Given the description of an element on the screen output the (x, y) to click on. 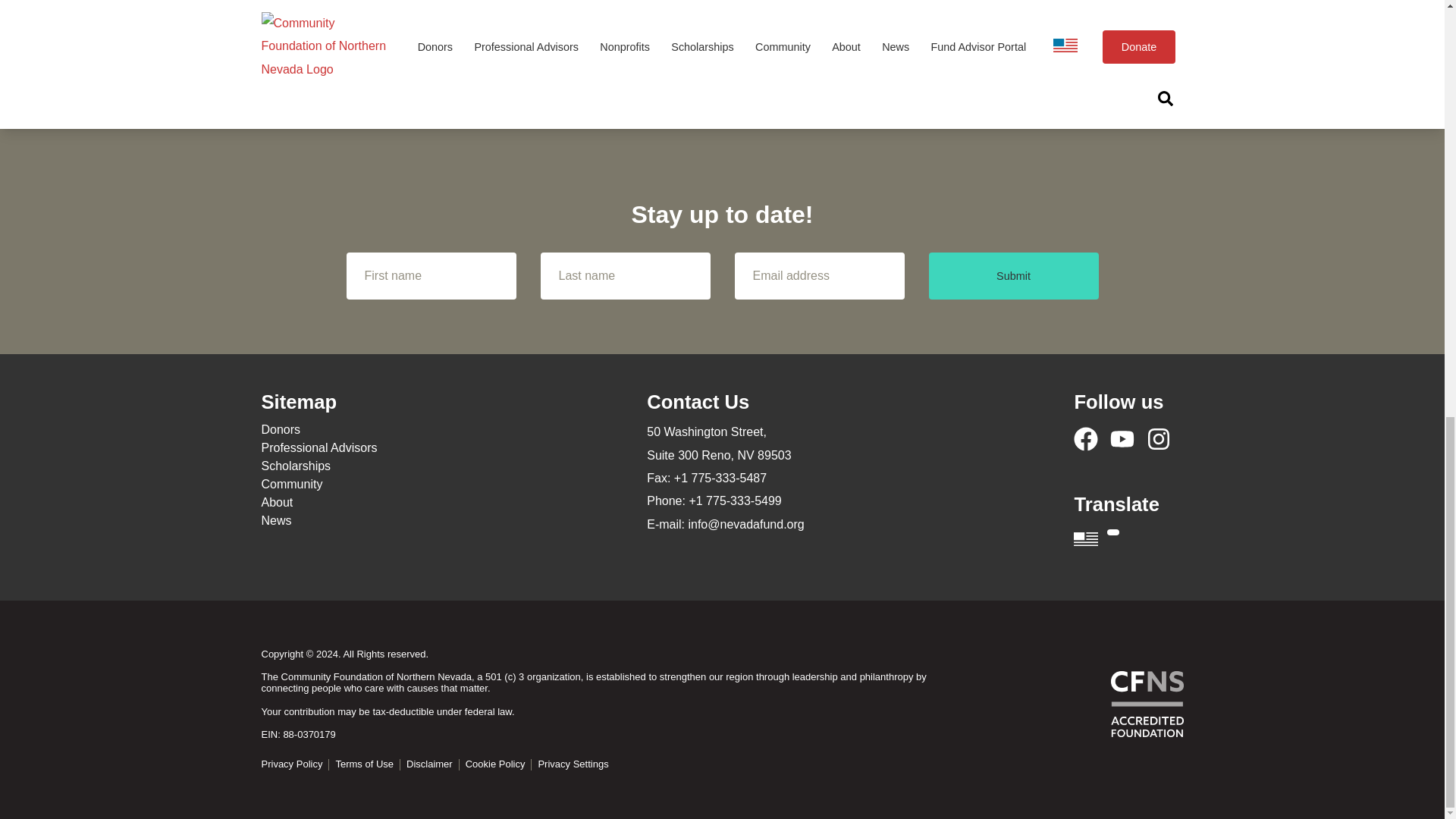
Language Translation (1128, 537)
Instagram (1158, 438)
Facebook (1085, 438)
YouTube (1121, 438)
